Given the description of an element on the screen output the (x, y) to click on. 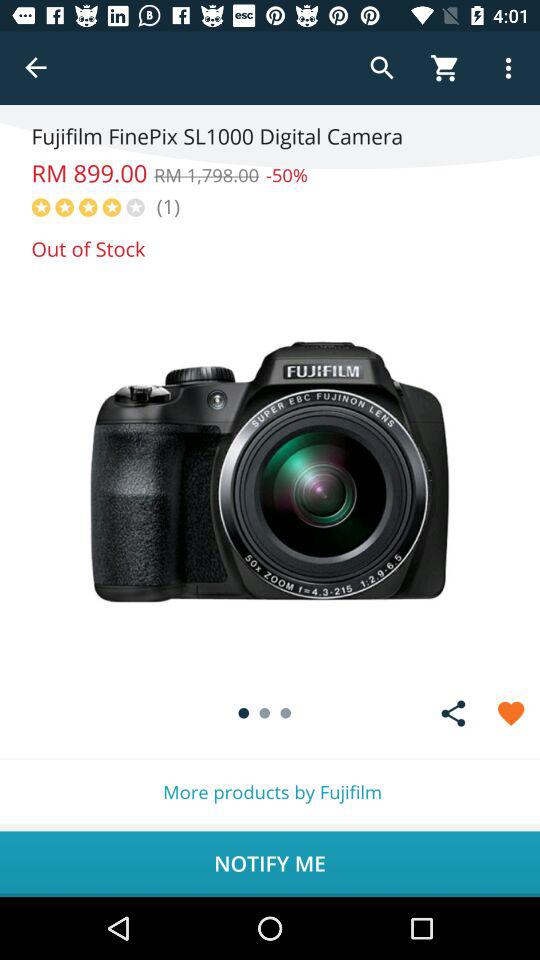
save as favorite (510, 713)
